Given the description of an element on the screen output the (x, y) to click on. 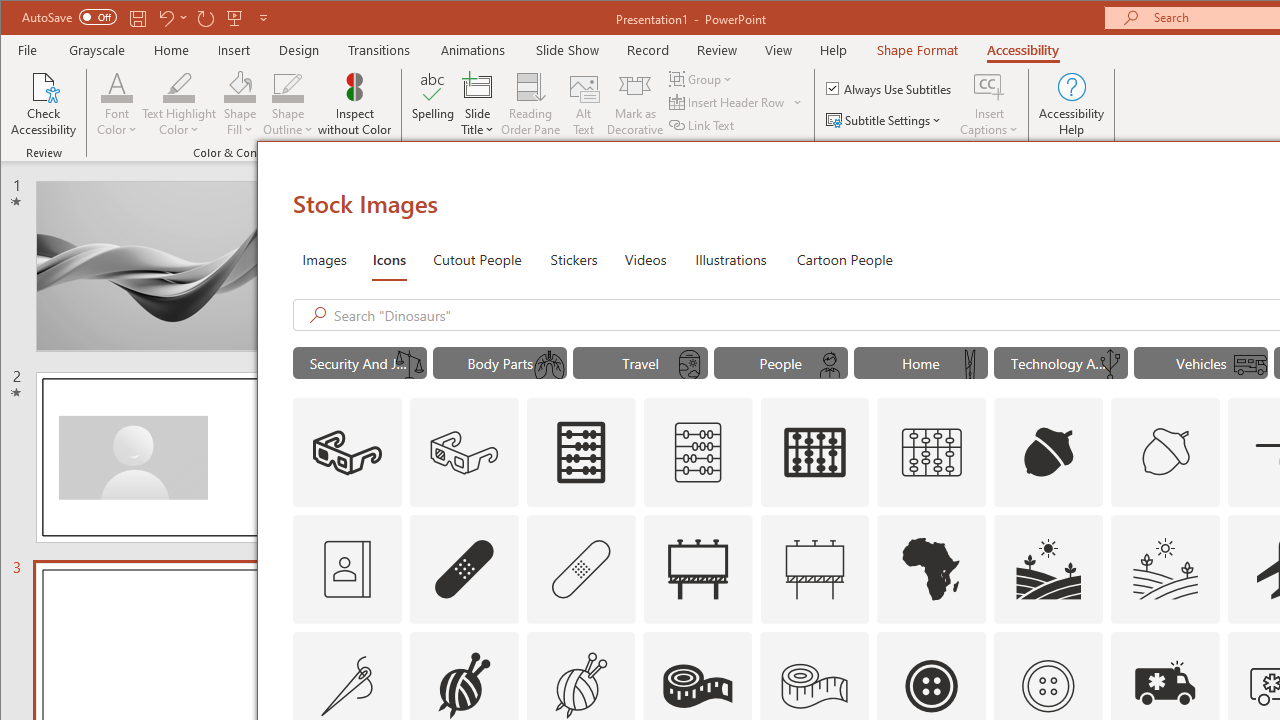
Alt Text (584, 104)
Inspect without Color (355, 104)
"Body Parts" Icons. (499, 362)
"Security And Justice" Icons. (360, 362)
AutomationID: Icons_Acorn_M (1165, 452)
AutomationID: Icons_Agriculture_M (1165, 568)
"Vehicles" Icons. (1201, 362)
Group (701, 78)
